Given the description of an element on the screen output the (x, y) to click on. 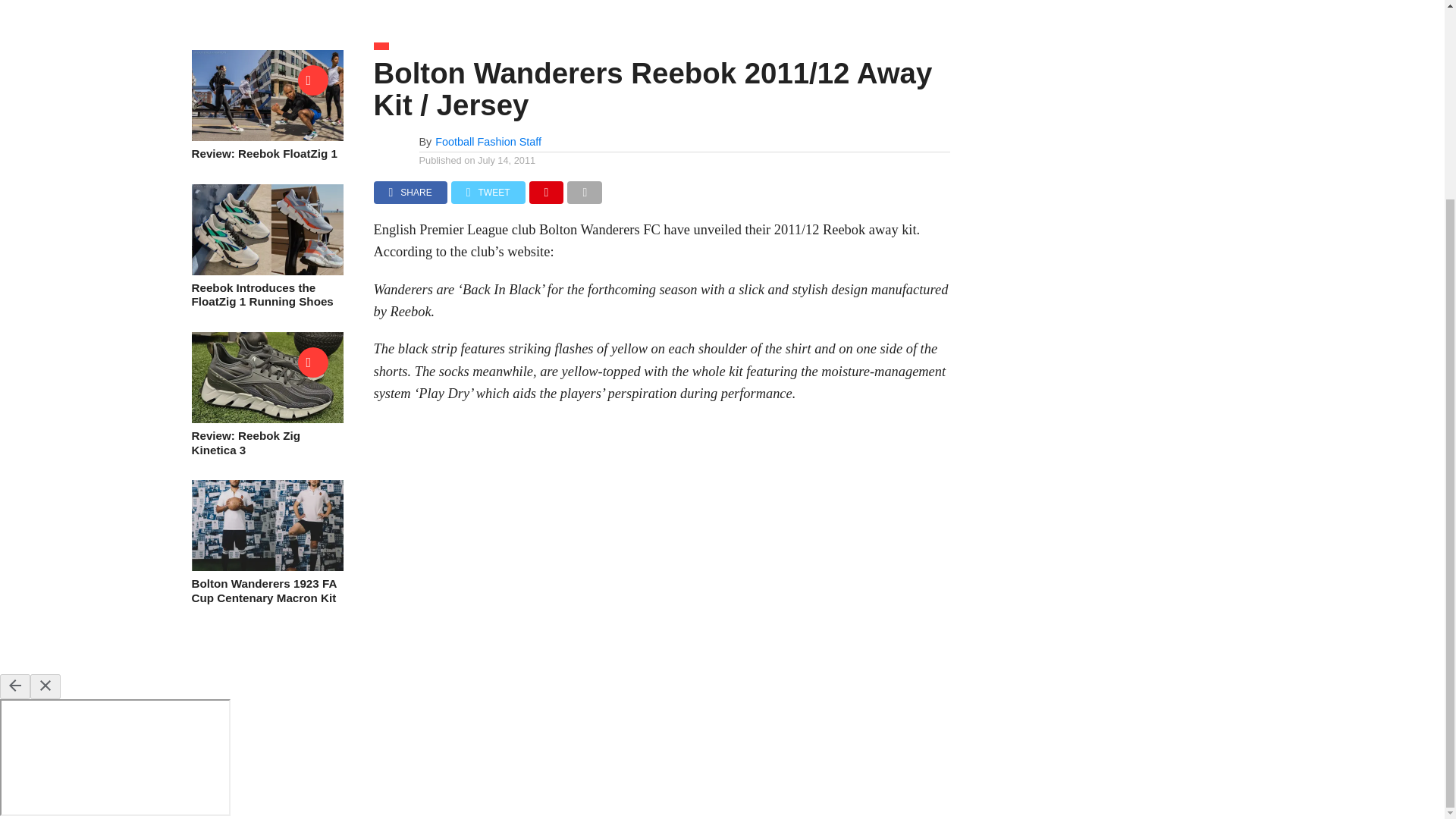
Review: Reebok FloatZig 1 (266, 136)
Bolton Wanderers 1923 FA Cup Centenary Macron Kit (266, 566)
Posts by Football Fashion Staff (488, 141)
Reebok Introduces the FloatZig 1 Running Shoes (266, 270)
Review: Reebok Zig Kinetica 3 (266, 418)
